Given the description of an element on the screen output the (x, y) to click on. 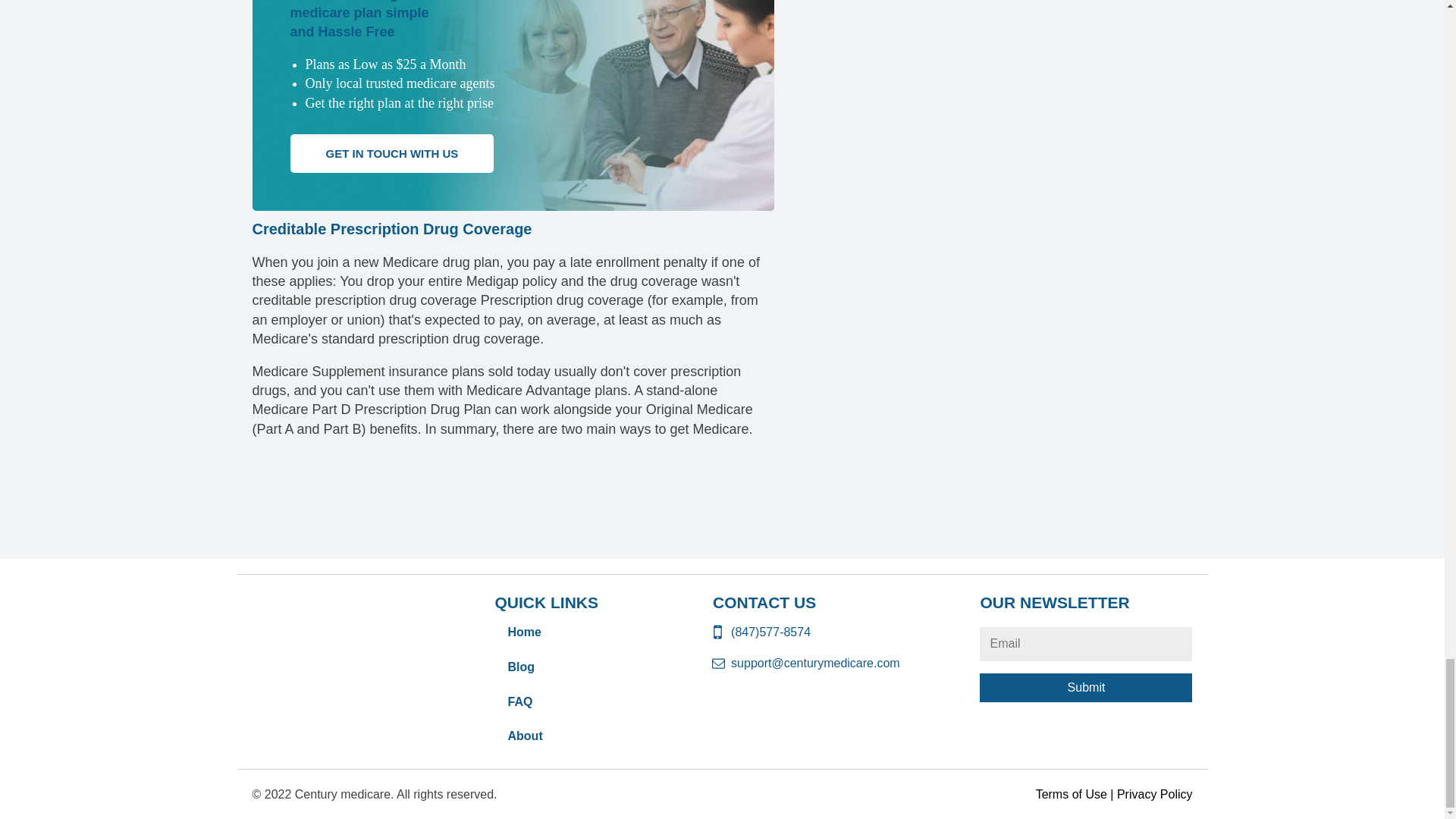
Century Medicare (340, 614)
GET IN TOUCH WITH US (391, 152)
GET IN TOUCH WITH US (391, 153)
Submit (1085, 687)
